Given the description of an element on the screen output the (x, y) to click on. 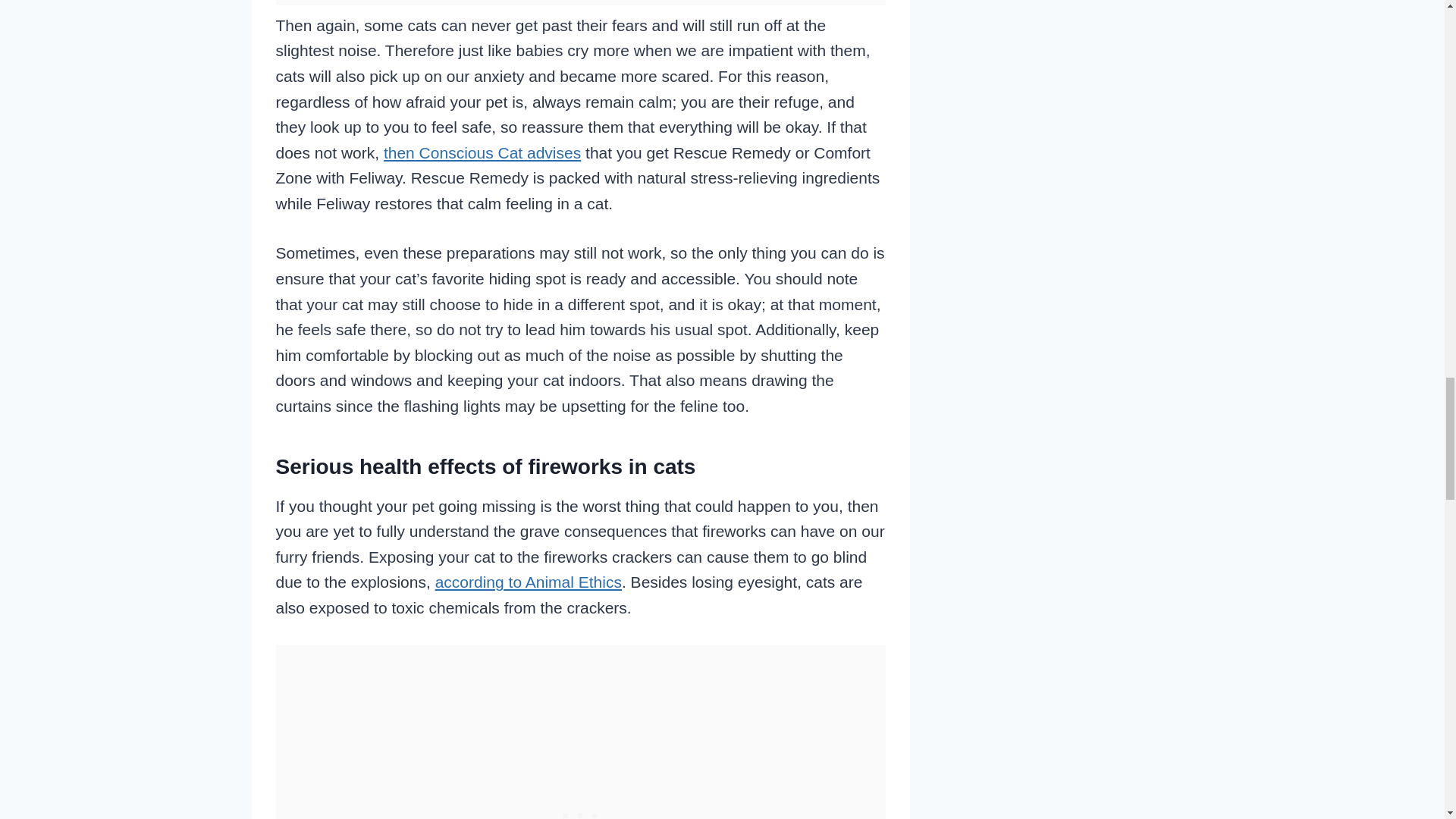
then Conscious Cat advises (482, 152)
according to Animal Ethics (528, 581)
